Given the description of an element on the screen output the (x, y) to click on. 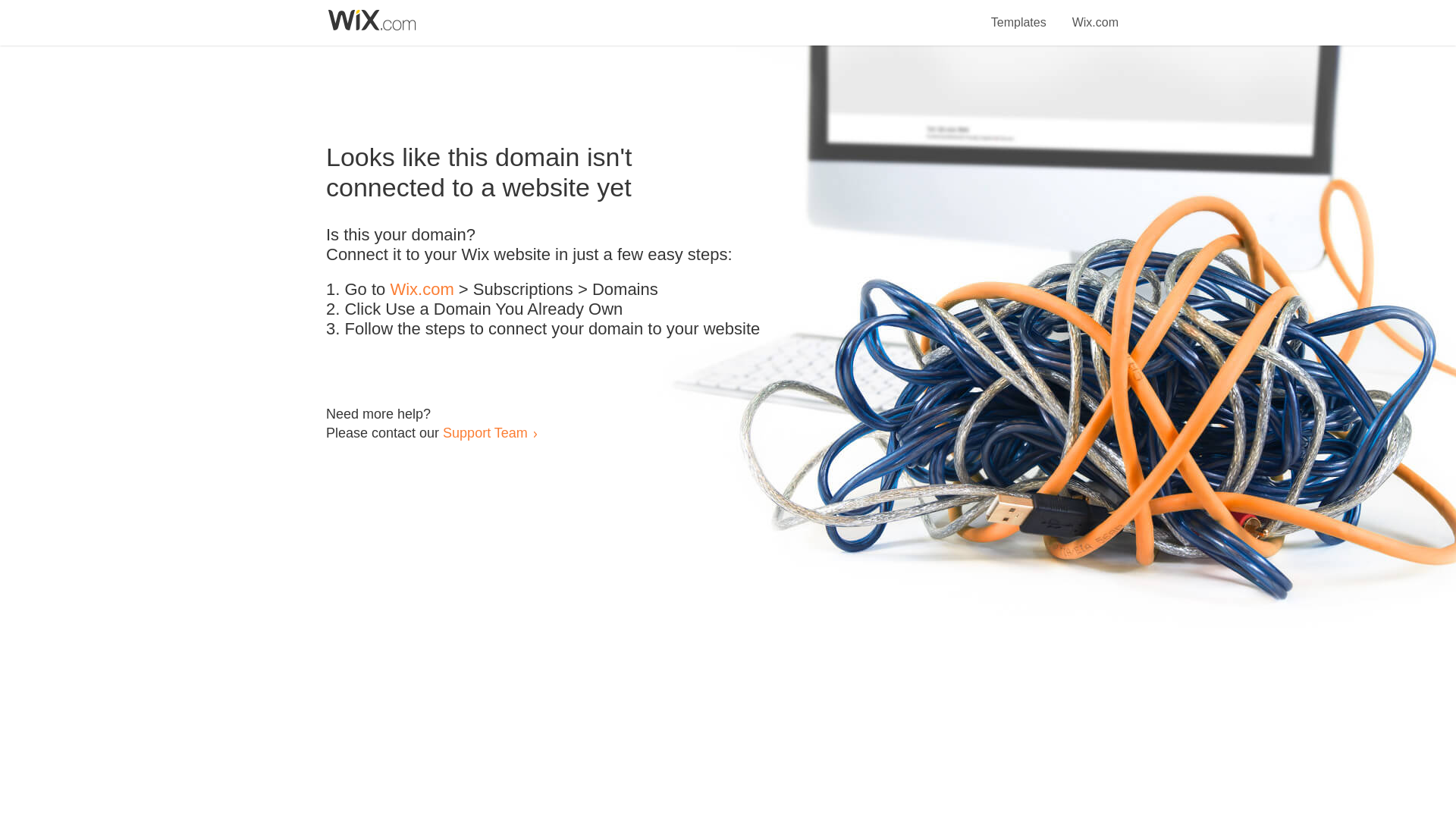
Wix.com (421, 289)
Support Team (484, 432)
Templates (1018, 14)
Wix.com (1095, 14)
